Given the description of an element on the screen output the (x, y) to click on. 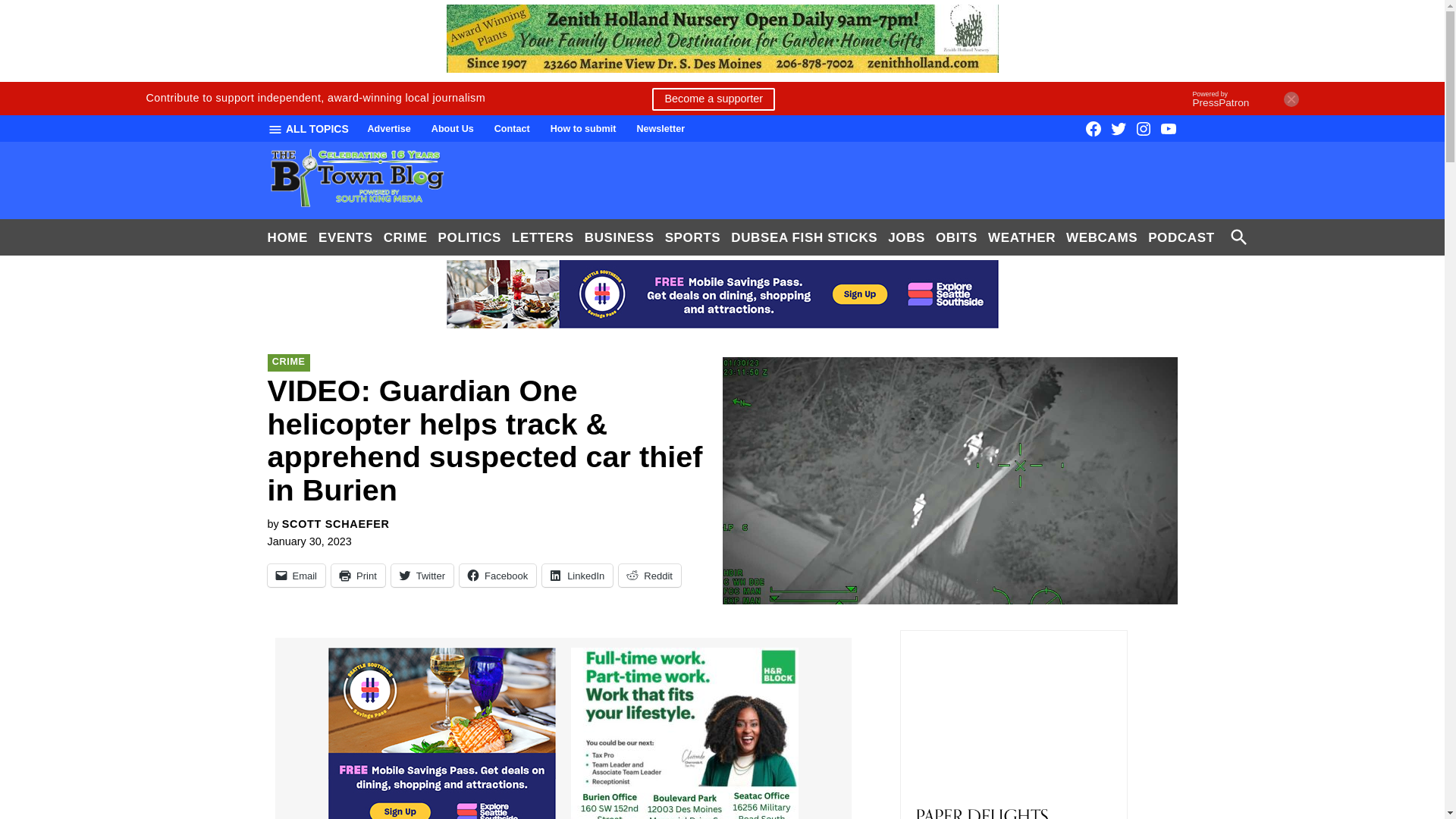
Click to email a link to a friend (295, 575)
Click to share on Facebook (497, 575)
Click to share on Twitter (421, 575)
Click to print (358, 575)
Click to share on LinkedIn (576, 575)
